Given the description of an element on the screen output the (x, y) to click on. 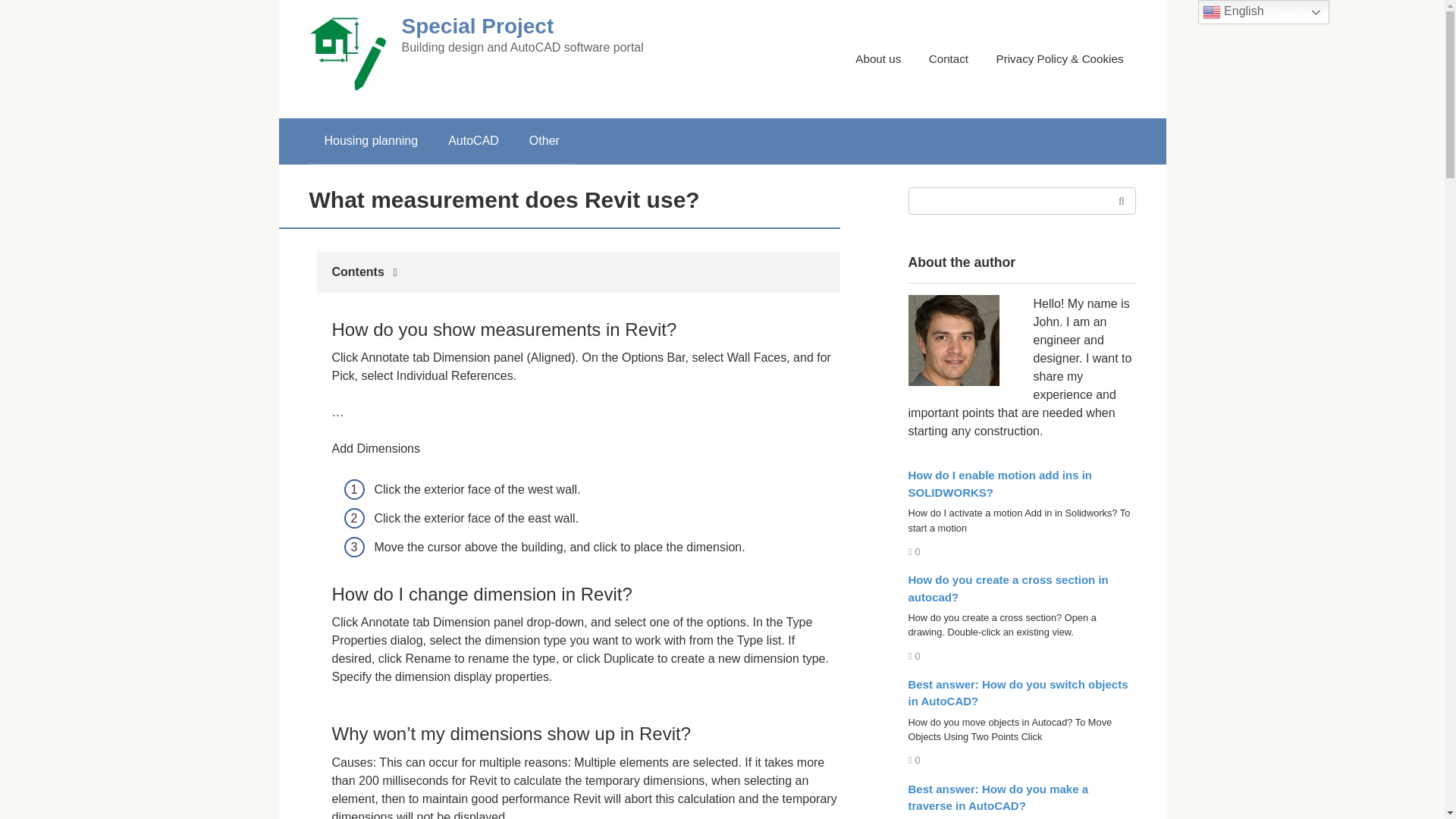
AutoCAD (472, 140)
About us (878, 59)
Housing planning (370, 140)
How do you create a cross section in autocad? (1008, 588)
Contact (948, 59)
Best answer: How do you switch objects in AutoCAD? (1018, 693)
Other (544, 140)
How do I enable motion add ins in SOLIDWORKS? (1000, 483)
Comments (914, 759)
